Given the description of an element on the screen output the (x, y) to click on. 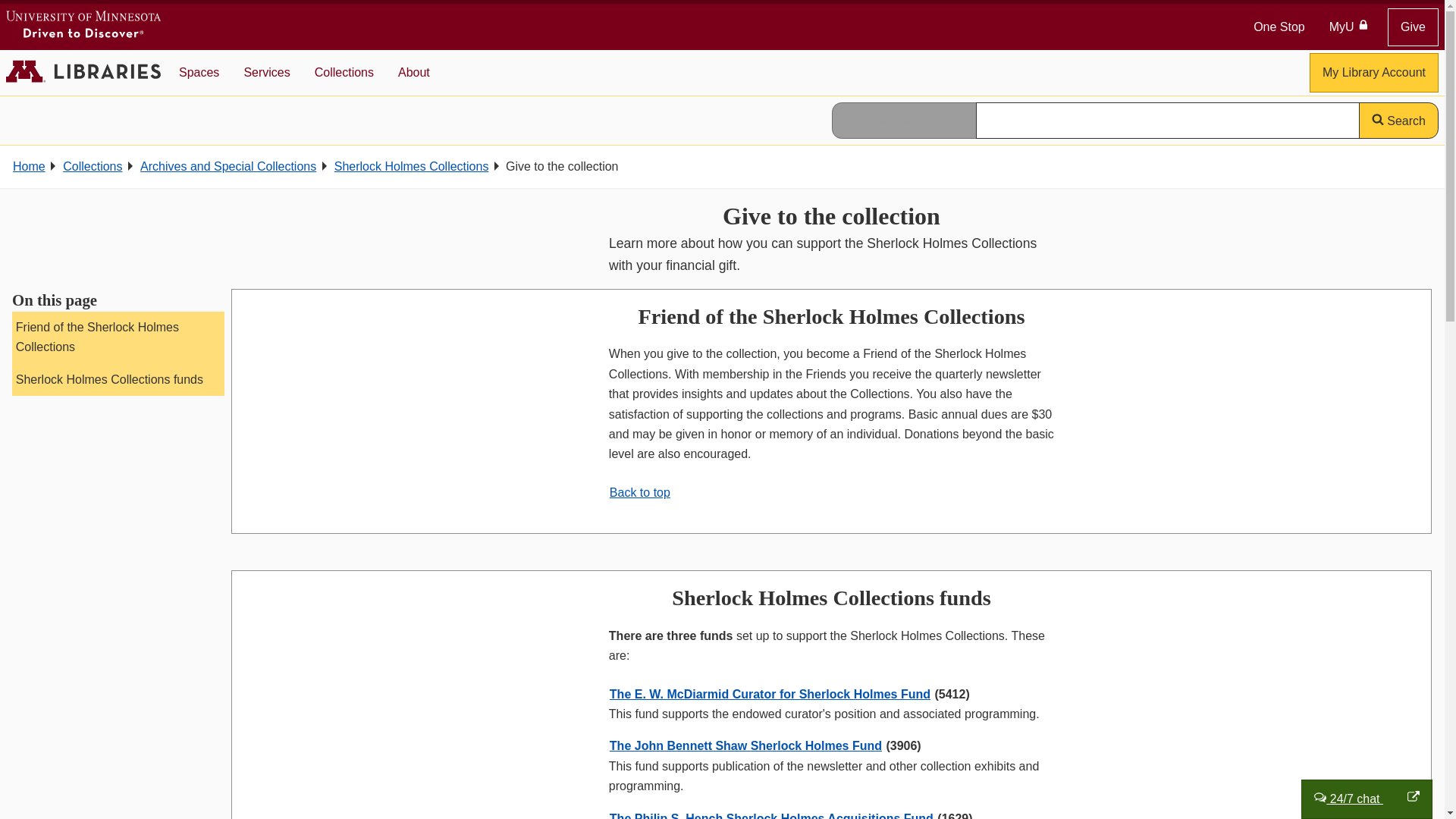
My Library Account (1373, 72)
Sherlock Holmes Collections funds (117, 379)
Search (1398, 120)
Give (1412, 26)
One Stop (1279, 27)
Services (266, 72)
Lock Authentication required (1363, 24)
Back to top (639, 492)
The Philip S. Hench Sherlock Holmes Acquisitions Fund (771, 815)
MyU Lock Authentication required (1349, 27)
